Given the description of an element on the screen output the (x, y) to click on. 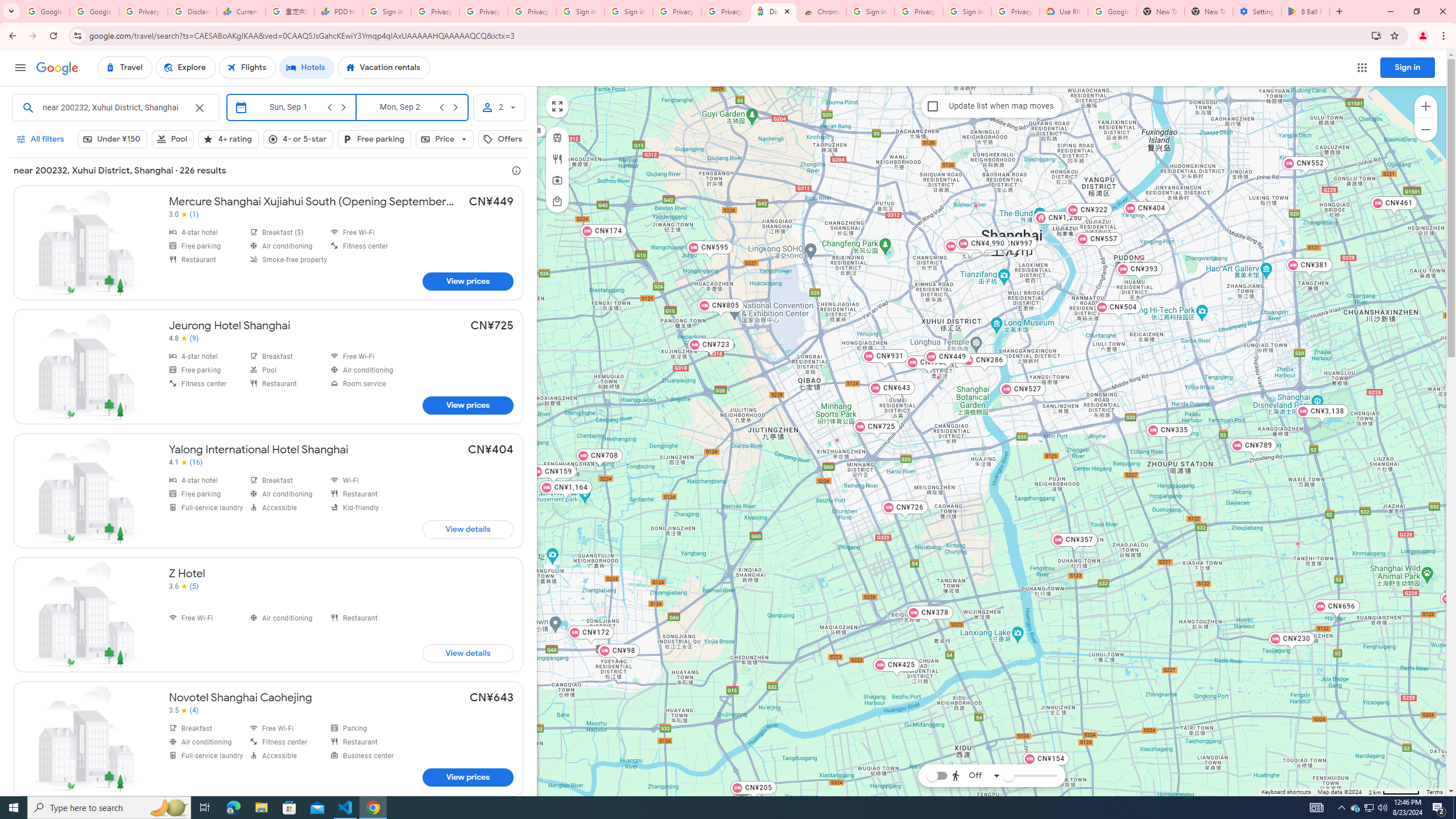
Privacy Checkup (483, 11)
Sign in - Google Accounts (580, 11)
New Tab (1208, 11)
Currencies - Google Finance (240, 11)
View larger map (557, 106)
Map Scale: 2 km per 61 pixels (1393, 791)
